Given the description of an element on the screen output the (x, y) to click on. 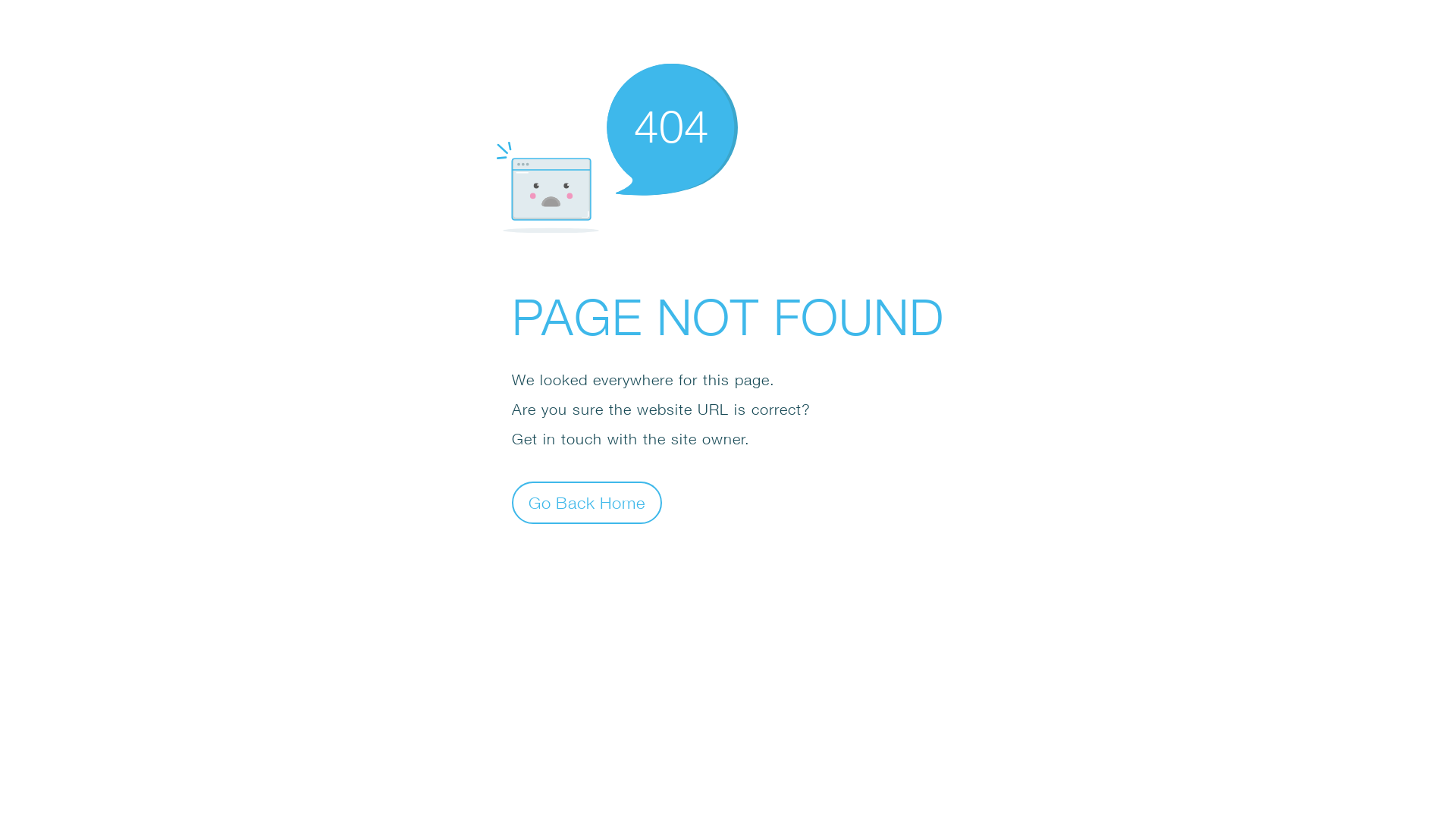
Go Back Home Element type: text (586, 502)
